Given the description of an element on the screen output the (x, y) to click on. 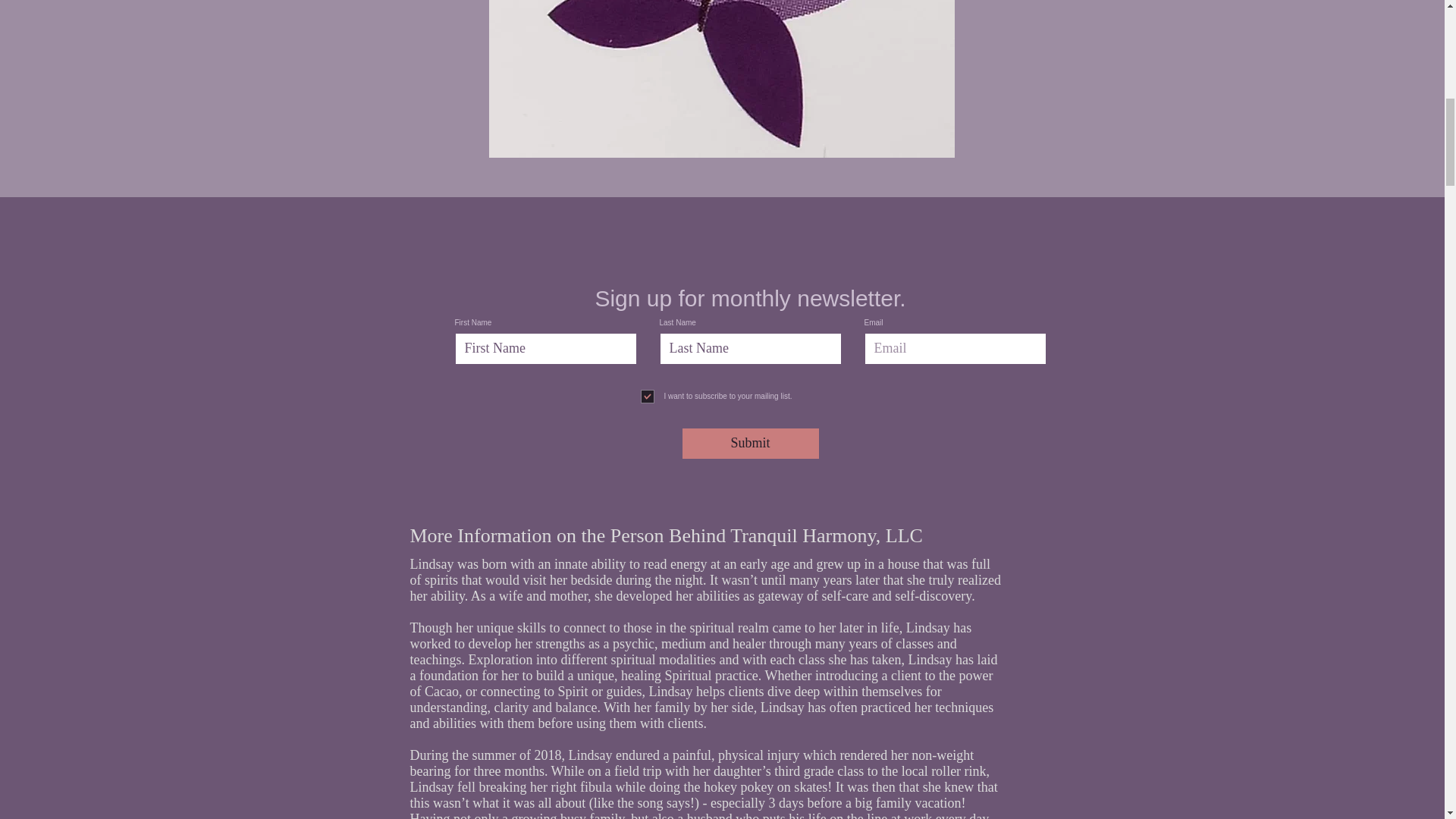
Submit (750, 443)
